Given the description of an element on the screen output the (x, y) to click on. 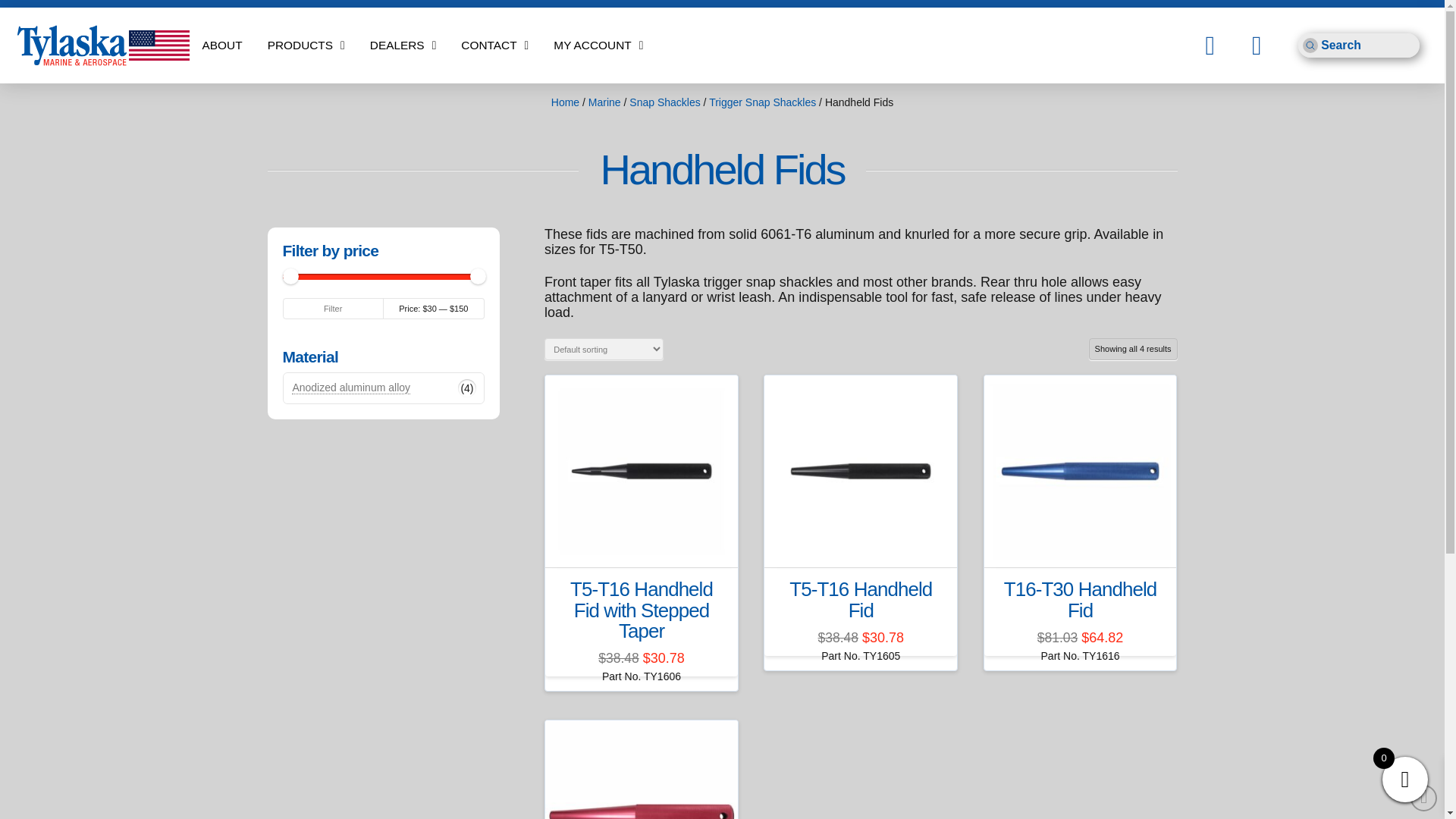
T5-T16 Handheld Fid with Stepped Taper (641, 609)
Home (565, 102)
DEALERS (402, 45)
Trigger Snap Shackles (762, 102)
Marine (604, 102)
CONTACT (494, 45)
MY ACCOUNT (598, 45)
Submit (1311, 45)
Snap Shackles (664, 102)
Back to Top (1423, 797)
PRODUCTS (305, 45)
